Given the description of an element on the screen output the (x, y) to click on. 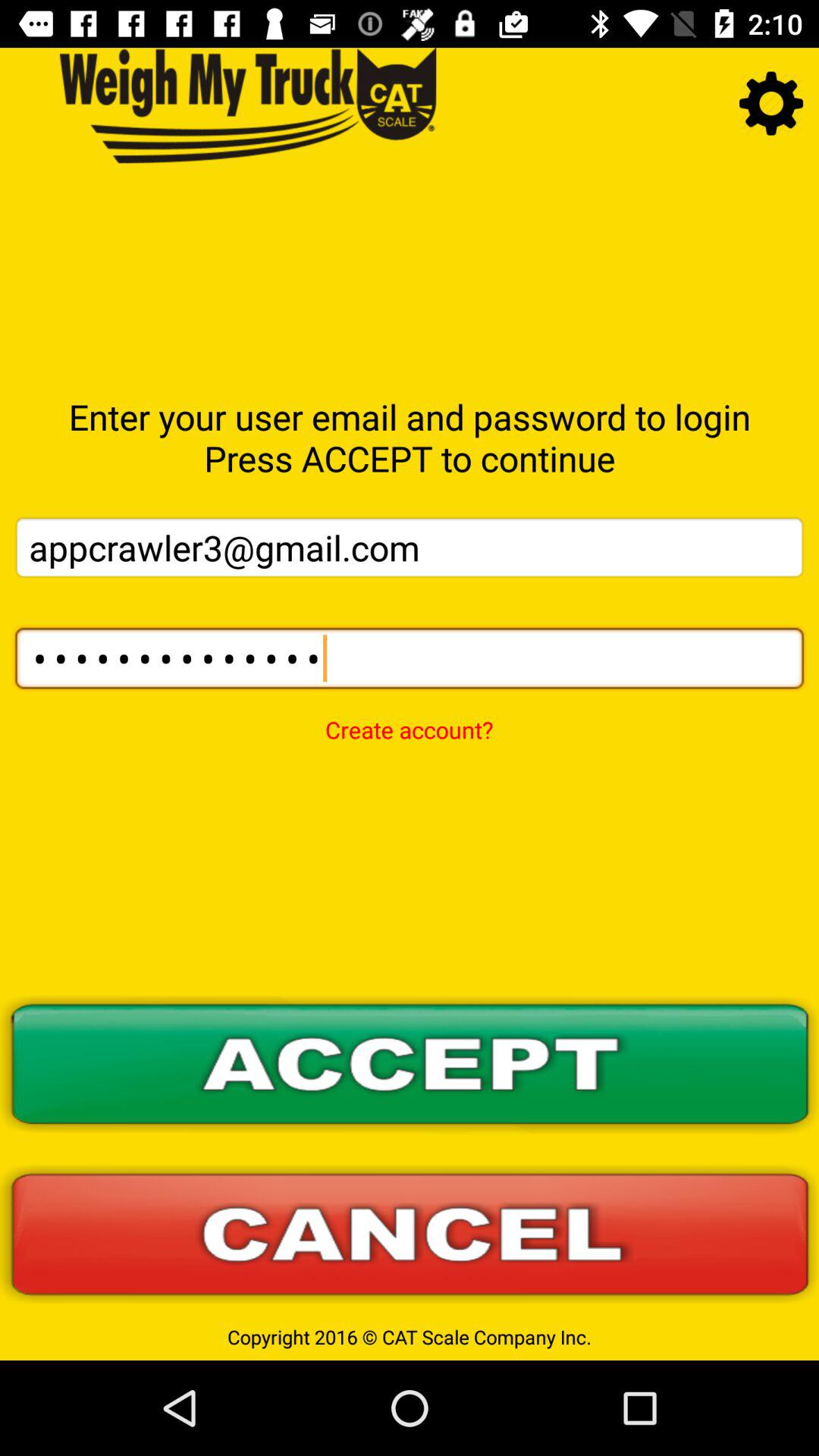
choose the item below appcrawler3116 (409, 719)
